Given the description of an element on the screen output the (x, y) to click on. 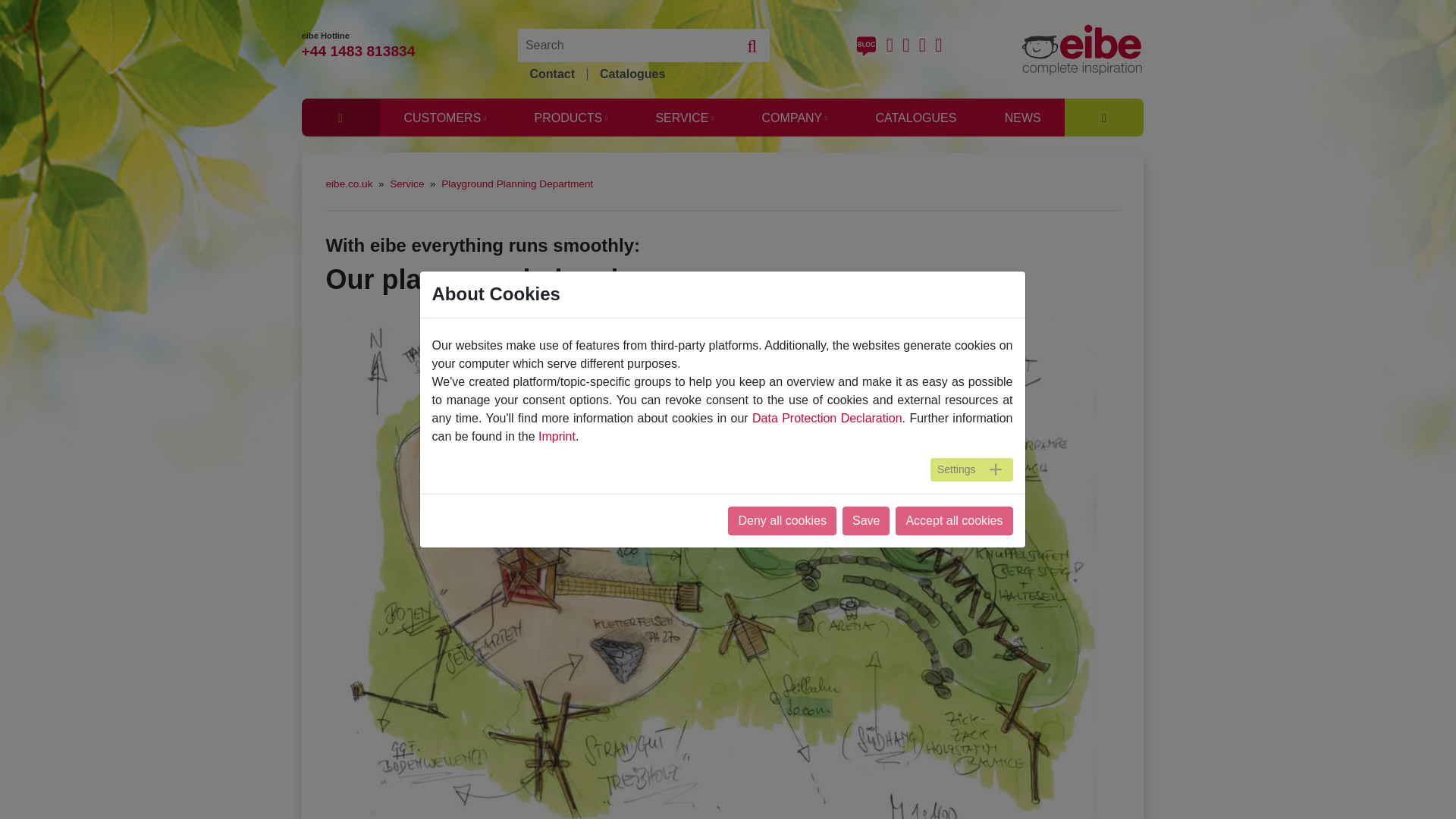
Catalogues (631, 73)
CUSTOMERS (444, 119)
PRODUCTS (570, 119)
SERVICE (684, 119)
eibe Blog (871, 47)
Contact (551, 73)
